Given the description of an element on the screen output the (x, y) to click on. 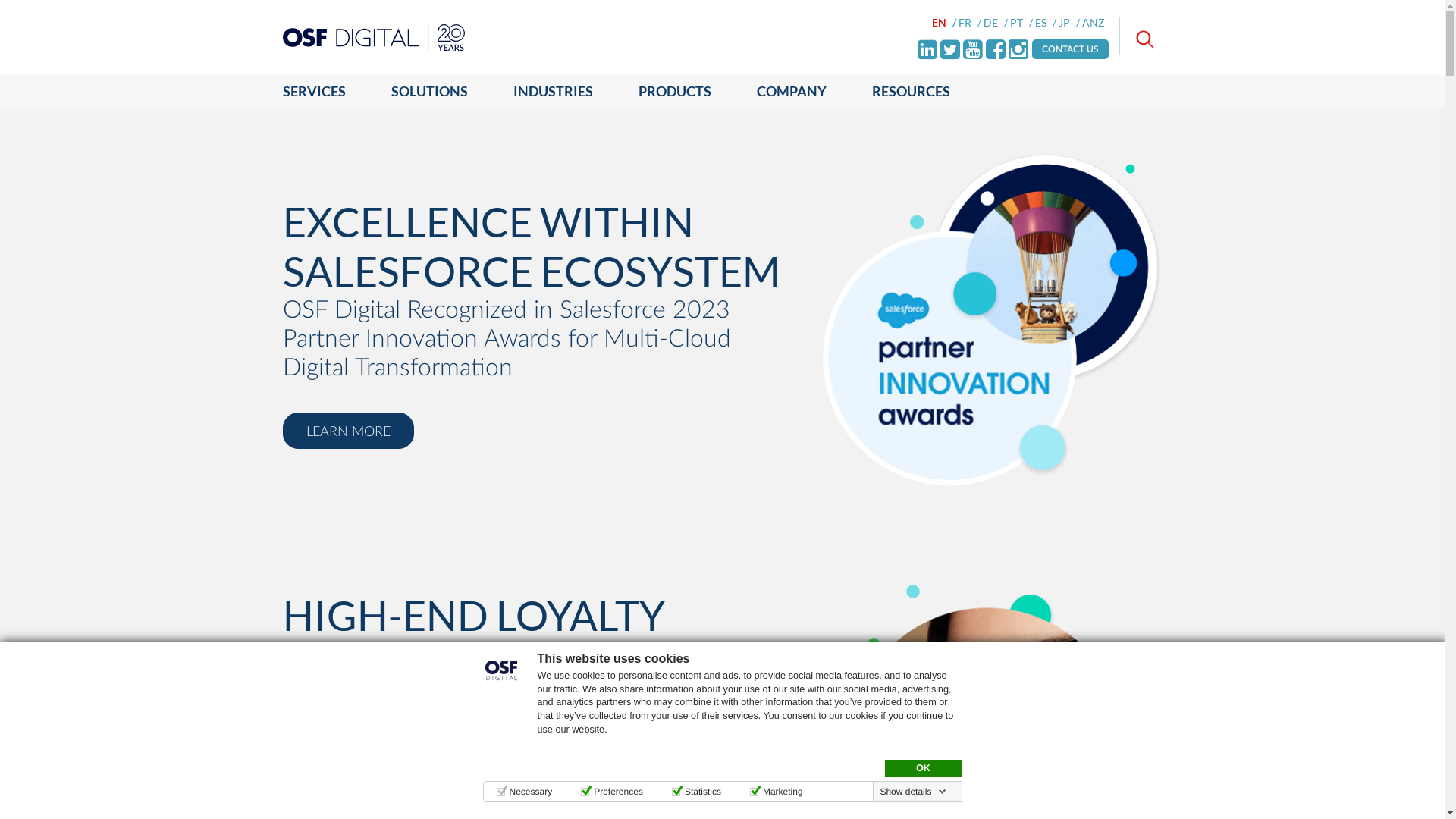
Twitter Element type: text (950, 48)
JP Element type: text (1068, 21)
FR Element type: text (969, 21)
Youtube Element type: text (972, 48)
SERVICES Element type: text (324, 90)
PRODUCTS Element type: text (674, 90)
LinkedIn Element type: text (927, 48)
Facebook Element type: text (995, 48)
ES Element type: text (1045, 21)
OK Element type: text (922, 768)
COMPANY Element type: text (791, 90)
SOLUTIONS Element type: text (429, 90)
Show details Element type: text (912, 791)
CONTACT US Element type: text (1070, 49)
LEARN MORE Element type: text (347, 430)
EN Element type: text (943, 21)
PT Element type: text (1021, 21)
Go Element type: text (9, 9)
DE Element type: text (995, 21)
INDUSTRIES Element type: text (552, 90)
RESOURCES Element type: text (910, 90)
Instagram Element type: text (1018, 48)
ANZ Element type: text (1095, 21)
